Given the description of an element on the screen output the (x, y) to click on. 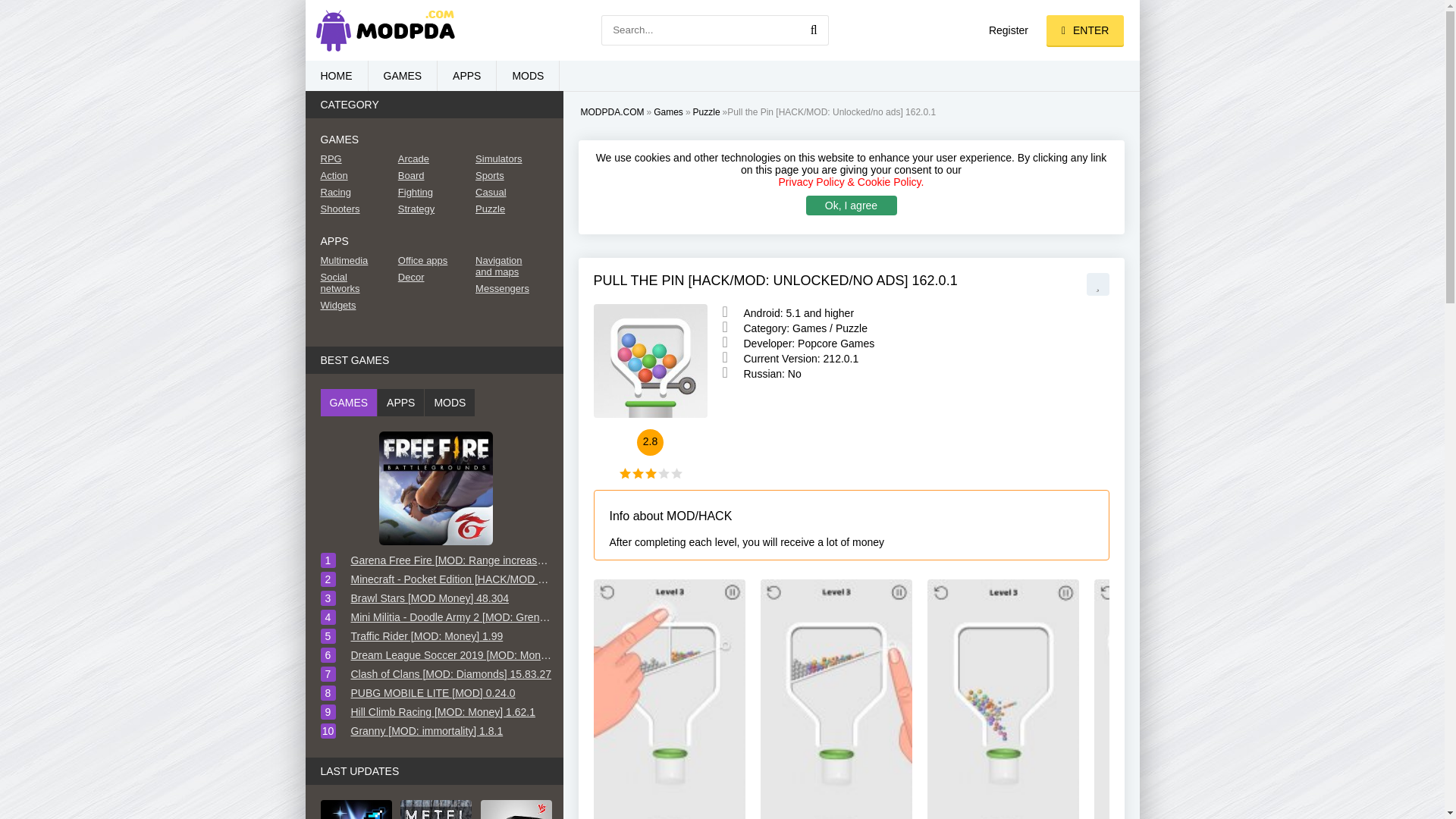
Puzzle (706, 112)
Find (812, 30)
Arcade (430, 158)
Useless (624, 472)
Racing (352, 192)
1 (624, 472)
Excellent (675, 472)
5 (675, 472)
Download puzzle games for Android (706, 112)
RPG (352, 158)
Action (352, 174)
MODPDA.COM (612, 112)
Puzzle (851, 328)
Shooters (352, 208)
Good (662, 472)
